Given the description of an element on the screen output the (x, y) to click on. 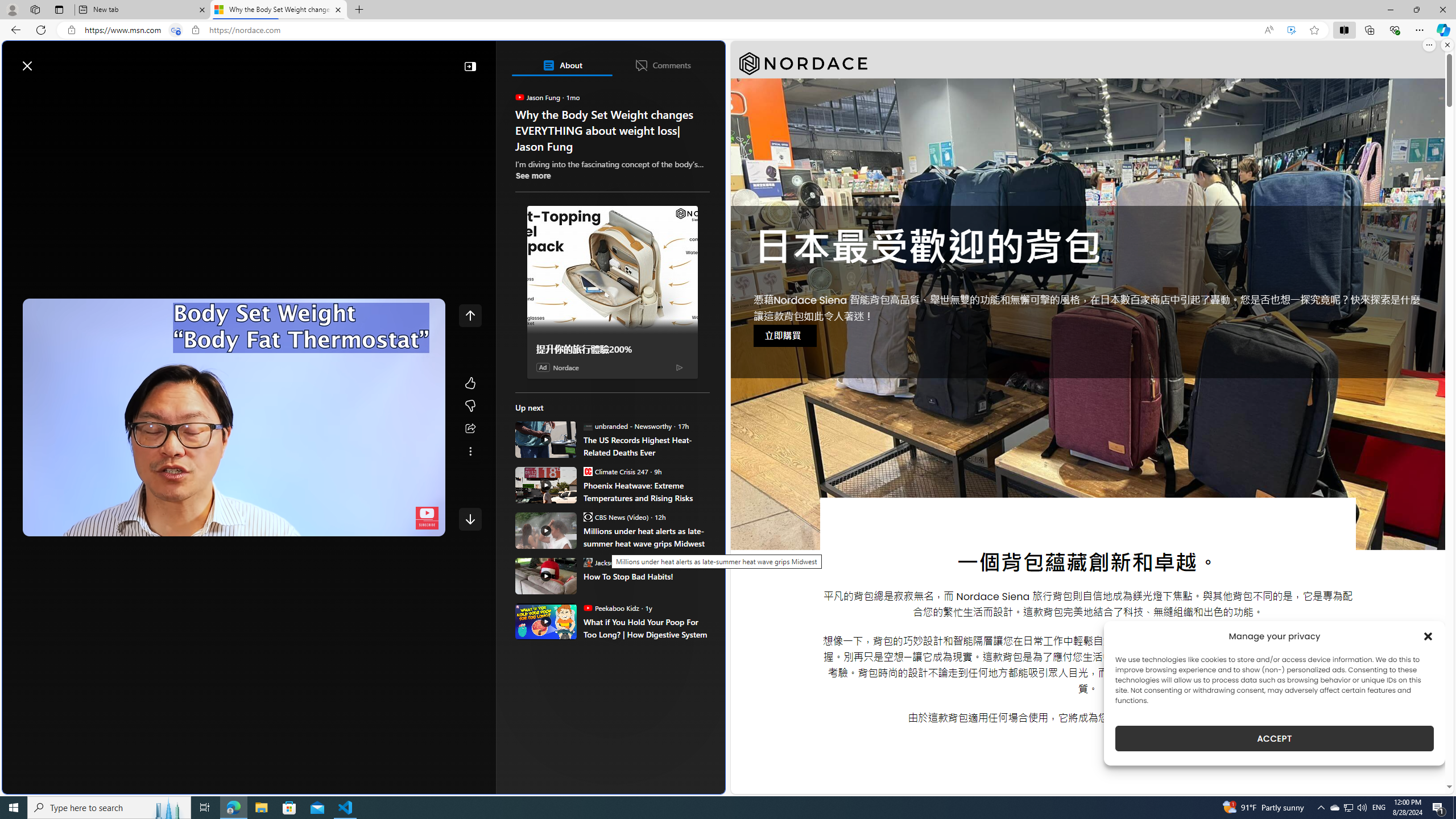
Jackson O'Doherty (587, 561)
Open settings (699, 60)
Settings (366, 525)
Notifications (676, 60)
More options. (1428, 45)
Open Copilot (566, 59)
Class: control (469, 518)
Tabs in split screen (175, 29)
intro (226, 525)
unbranded - Newsworthy unbranded - Newsworthy (626, 425)
Dislike (469, 405)
Address and search bar (669, 29)
Add this page to favorites (Ctrl+D) (1314, 29)
